Given the description of an element on the screen output the (x, y) to click on. 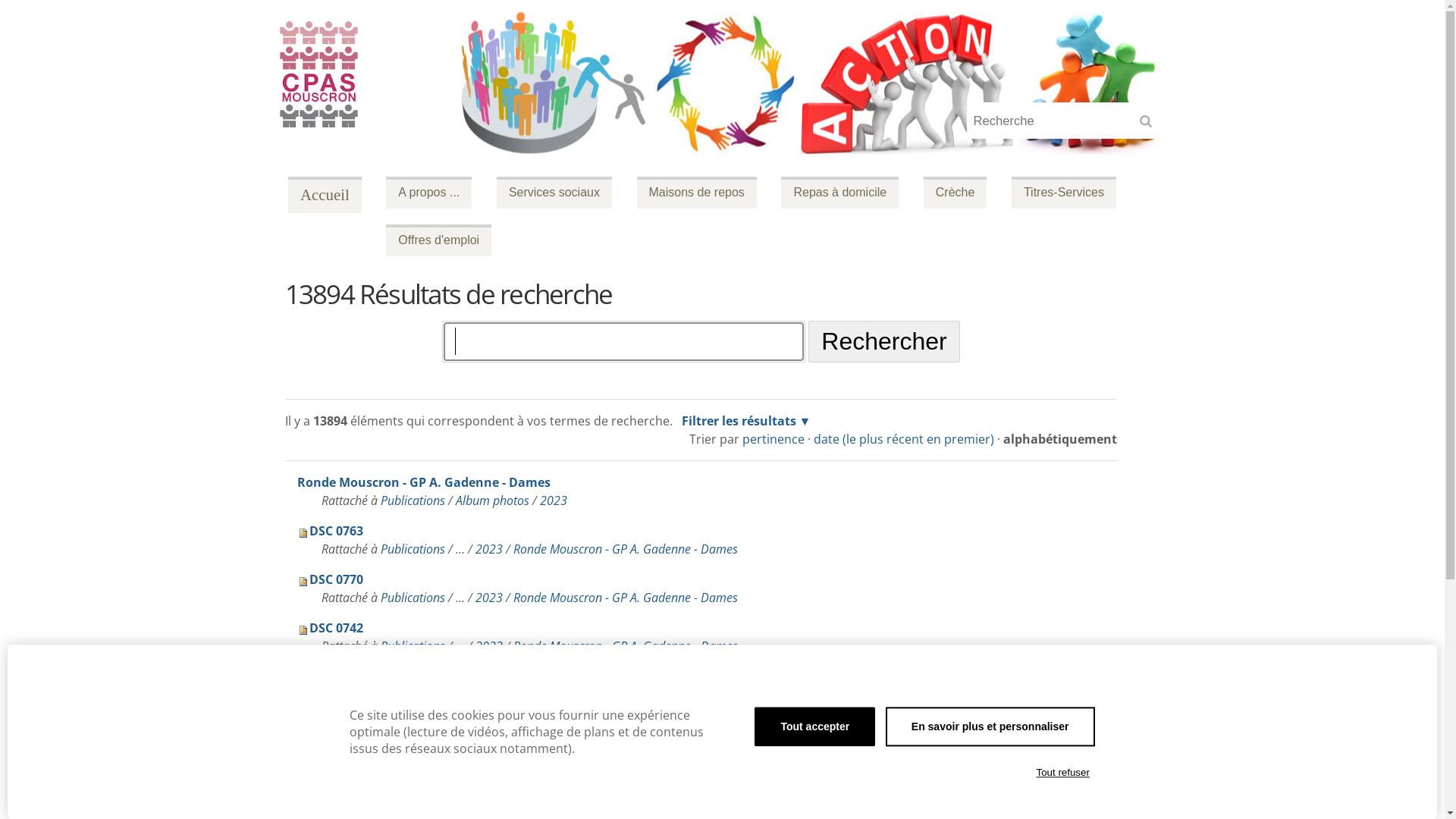
En savoir plus et personnaliser Element type: text (990, 726)
DSC 0763 Element type: text (330, 530)
Titres-Services Element type: text (1063, 192)
Tout refuser Element type: text (1063, 772)
A propos ... Element type: text (428, 192)
DSC 0742 Element type: text (330, 627)
Tout accepter Element type: text (814, 726)
Maisons de repos Element type: text (696, 192)
2023 Element type: text (488, 791)
2023 Element type: text (488, 742)
2023 Element type: text (488, 694)
Centre Public d'Action Sociale Element type: hover (324, 194)
Ronde Mouscron - GP A. Gadenne - Dames Element type: text (625, 694)
Ronde Mouscron - GP A. Gadenne - Dames Element type: text (423, 481)
Publications Element type: text (412, 694)
Offres d'emploi Element type: text (438, 240)
Ronde Mouscron - GP A. Gadenne - Dames Element type: text (625, 597)
Services sociaux Element type: text (553, 192)
Album photos Element type: text (492, 500)
Chercher dans le site Element type: hover (623, 341)
Ronde Mouscron - GP A. Gadenne - Dames Element type: text (625, 742)
DSC 0730 Element type: text (330, 773)
2023 Element type: text (488, 645)
Recherche Element type: hover (1066, 120)
Publications Element type: text (412, 791)
Ronde Mouscron - GP A. Gadenne - Dames Element type: text (625, 548)
Publications Element type: text (412, 500)
Publications Element type: text (412, 742)
DSC 0726 Element type: text (330, 724)
Ronde Mouscron - GP A. Gadenne - Dames Element type: text (625, 645)
Publications Element type: text (412, 645)
2023 Element type: text (488, 597)
pertinence Element type: text (773, 438)
Rechercher Element type: text (1149, 125)
DSC 0770 Element type: text (330, 579)
2023 Element type: text (553, 500)
Ronde Mouscron - GP A. Gadenne - Dames Element type: text (625, 791)
Rechercher Element type: text (883, 341)
Publications Element type: text (412, 548)
DSC 0739 Element type: text (330, 676)
2023 Element type: text (488, 548)
Publications Element type: text (412, 597)
